Given the description of an element on the screen output the (x, y) to click on. 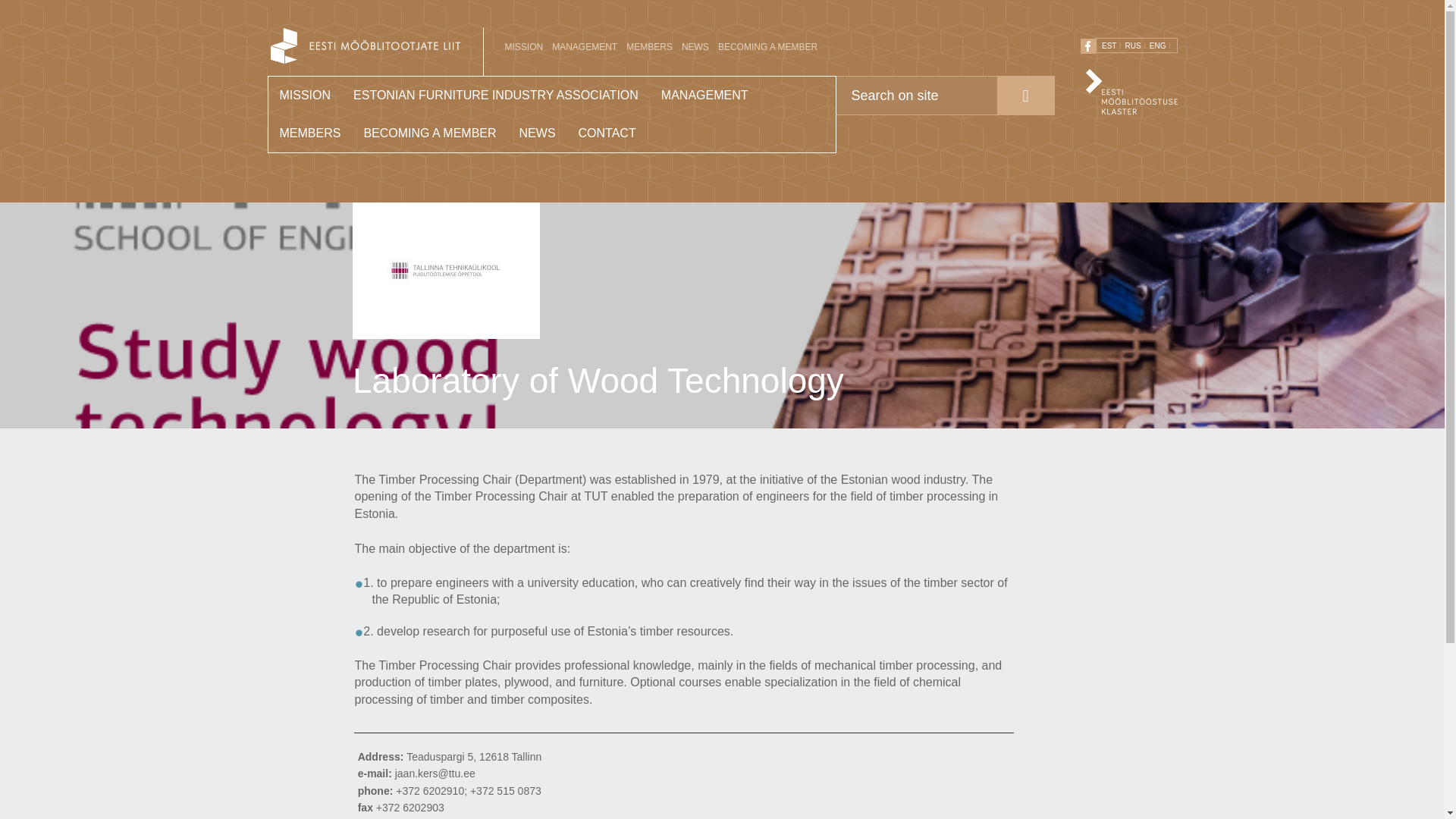
CONTACT (607, 133)
MISSION (524, 46)
RUS (1135, 45)
EST (1111, 45)
BECOMING A MEMBER (429, 133)
MISSION (304, 95)
MEMBERS (649, 46)
ENG (1160, 45)
ESTONIAN FURNITURE INDUSTRY ASSOCIATION (495, 95)
MEMBERS (309, 133)
MANAGEMENT (704, 95)
MANAGEMENT (584, 46)
BECOMING A MEMBER (767, 46)
NEWS (695, 46)
NEWS (537, 133)
